Given the description of an element on the screen output the (x, y) to click on. 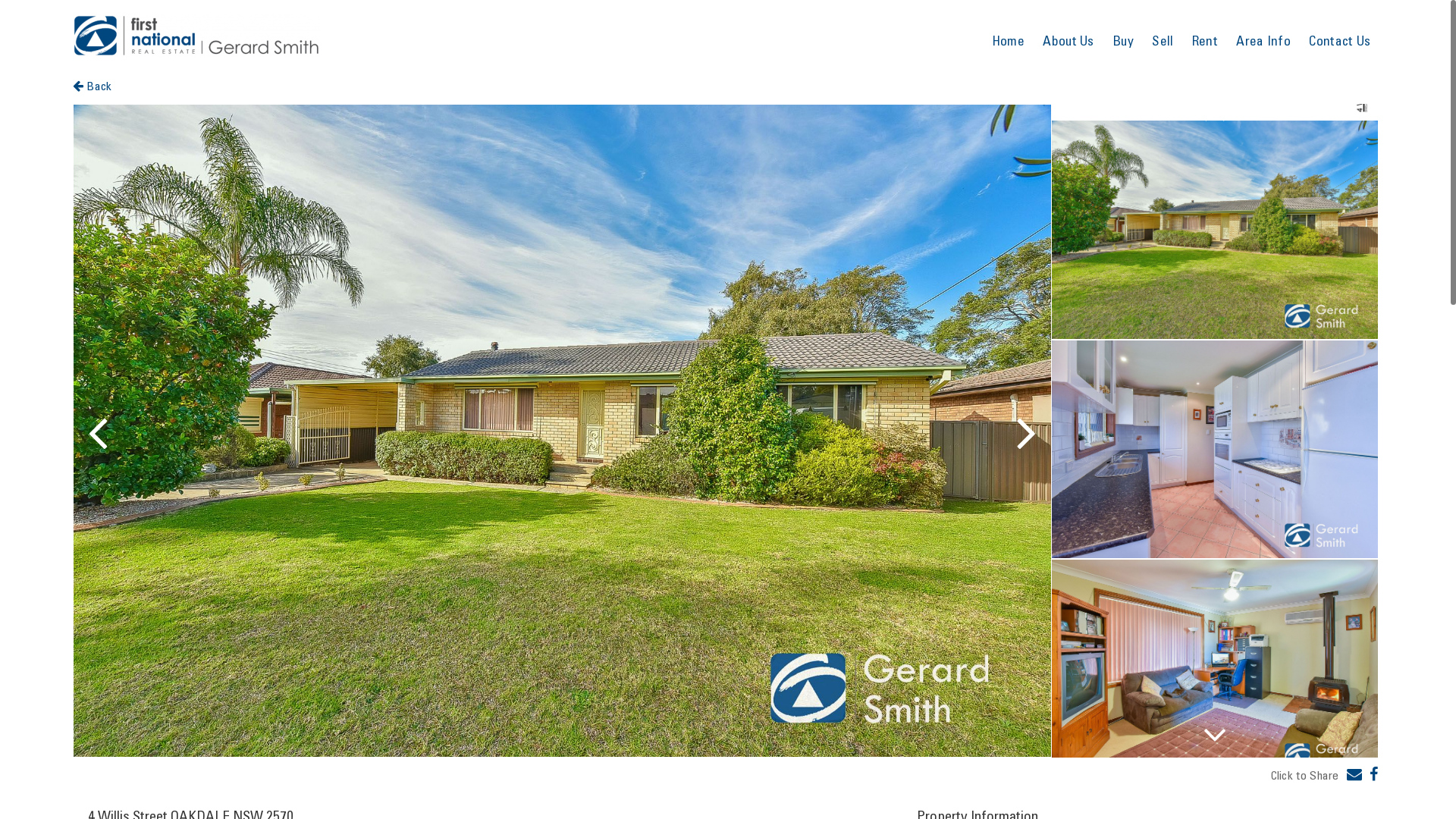
Home Element type: text (1008, 40)
Back Element type: text (92, 85)
Facebook Element type: hover (1373, 774)
Gerard Smith First National -  Element type: hover (196, 35)
Rent Element type: text (1204, 40)
Buy Element type: text (1122, 40)
Area Info Element type: text (1263, 40)
Sell Element type: text (1162, 40)
About Us Element type: text (1068, 40)
Email Element type: hover (1353, 774)
Contact Us Element type: text (1339, 40)
